Given the description of an element on the screen output the (x, y) to click on. 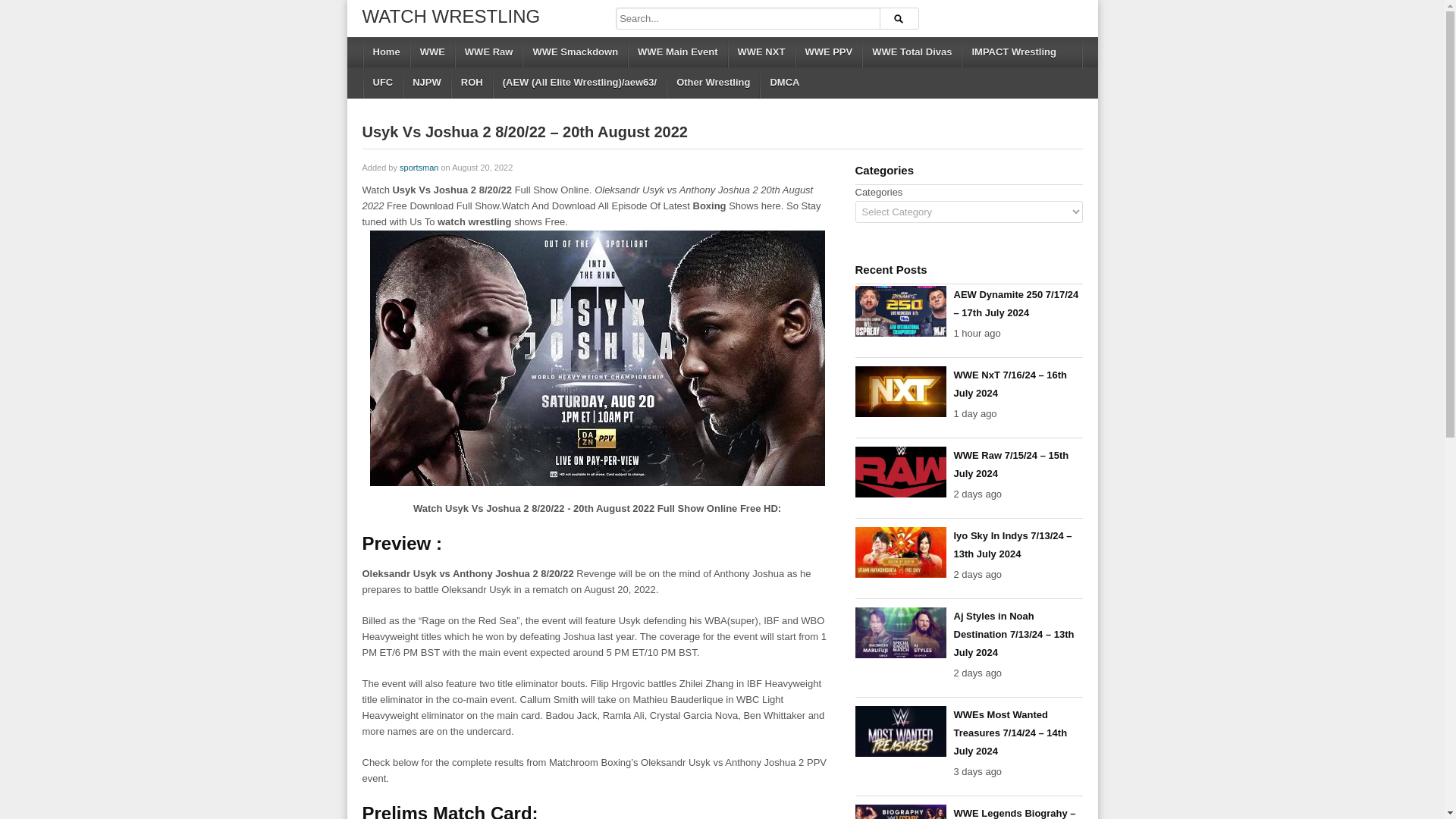
WATCH WRESTLING (451, 15)
WWE NXT (760, 51)
WWE Raw (488, 51)
ROH (470, 82)
Other Wrestling (711, 82)
WWE Main Event (676, 51)
WWE PPV (827, 51)
Search (899, 18)
Posts by sportsman (418, 166)
Home (385, 51)
WWE Smackdown (574, 51)
Search (899, 18)
IMPACT Wrestling (1012, 51)
Search (899, 18)
NJPW (425, 82)
